Given the description of an element on the screen output the (x, y) to click on. 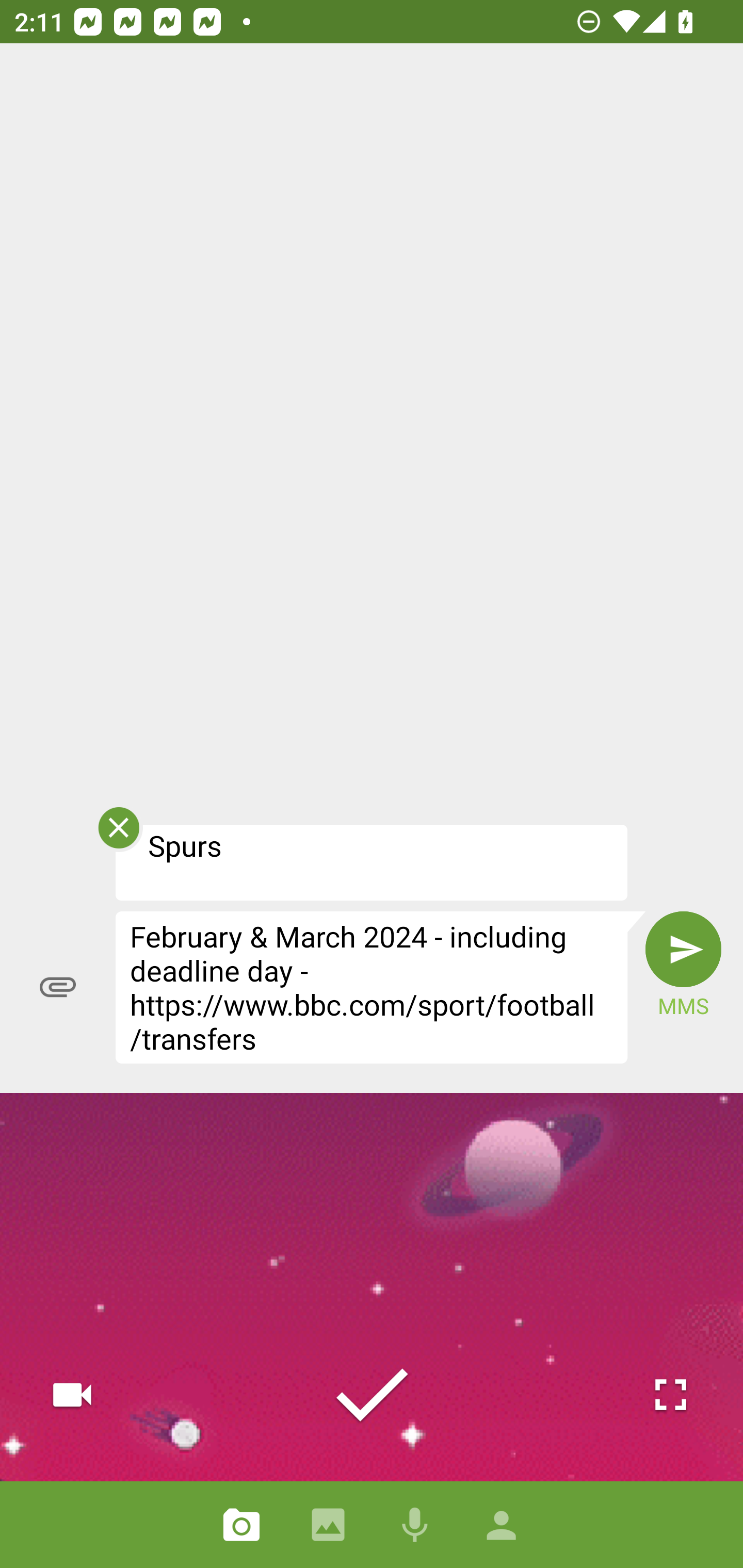
Delete subject (117, 833)
Spurs
 (371, 862)
Add an attachment (57, 987)
Take picture (371, 1394)
Capture video (71, 1394)
Switch to full screen camera (670, 1394)
Capture pictures or video (241, 1524)
Choose images from this device (327, 1524)
Record audio (414, 1524)
Choose a contact from this device (501, 1524)
